Given the description of an element on the screen output the (x, y) to click on. 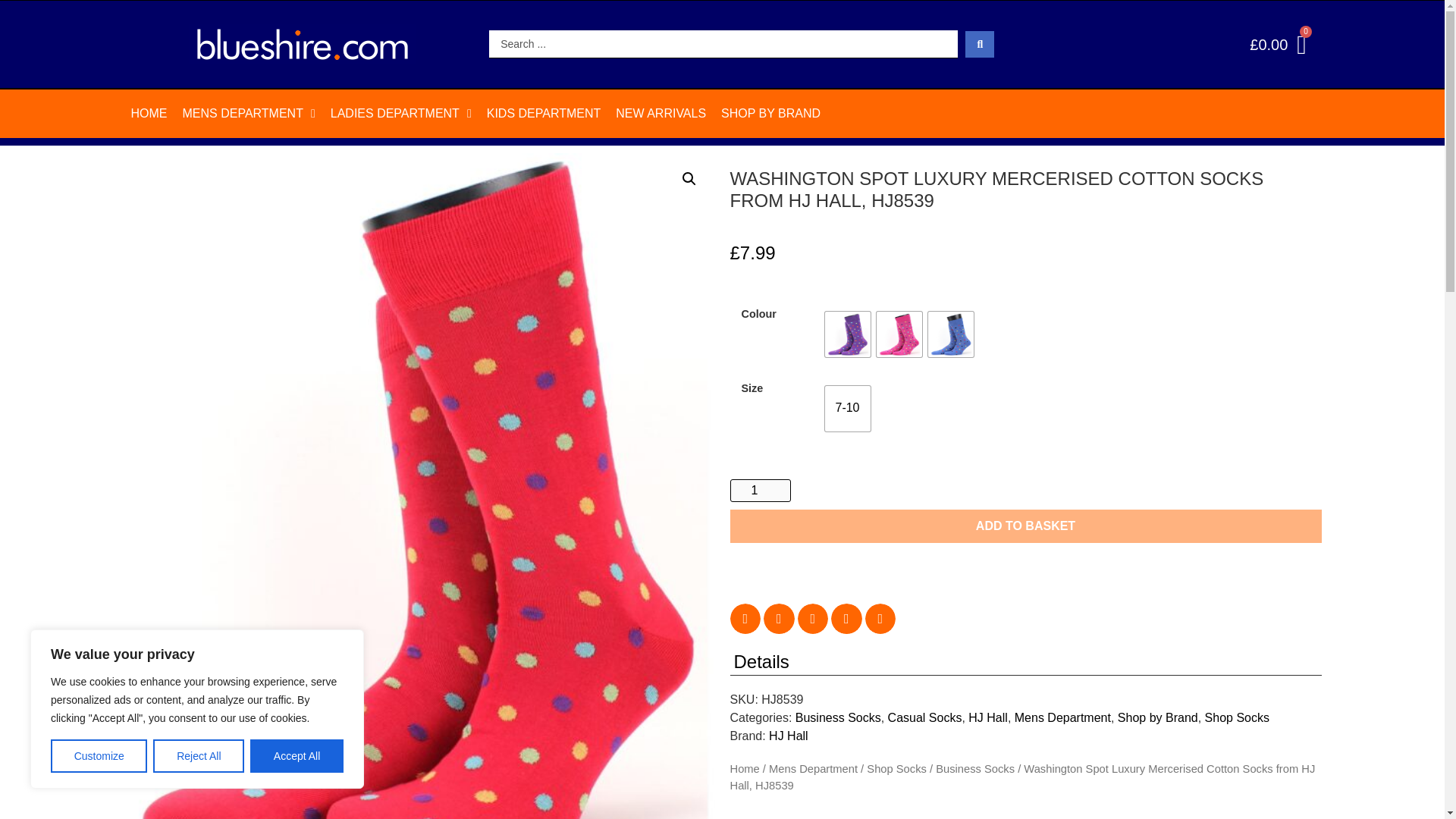
MENS DEPARTMENT (247, 113)
HOME (148, 113)
Fuchsia (898, 334)
Crocus (847, 334)
Accept All (296, 756)
1 (759, 490)
Customize (98, 756)
Royal (951, 334)
Reject All (198, 756)
7-10 (847, 408)
PayPal (1024, 567)
